Given the description of an element on the screen output the (x, y) to click on. 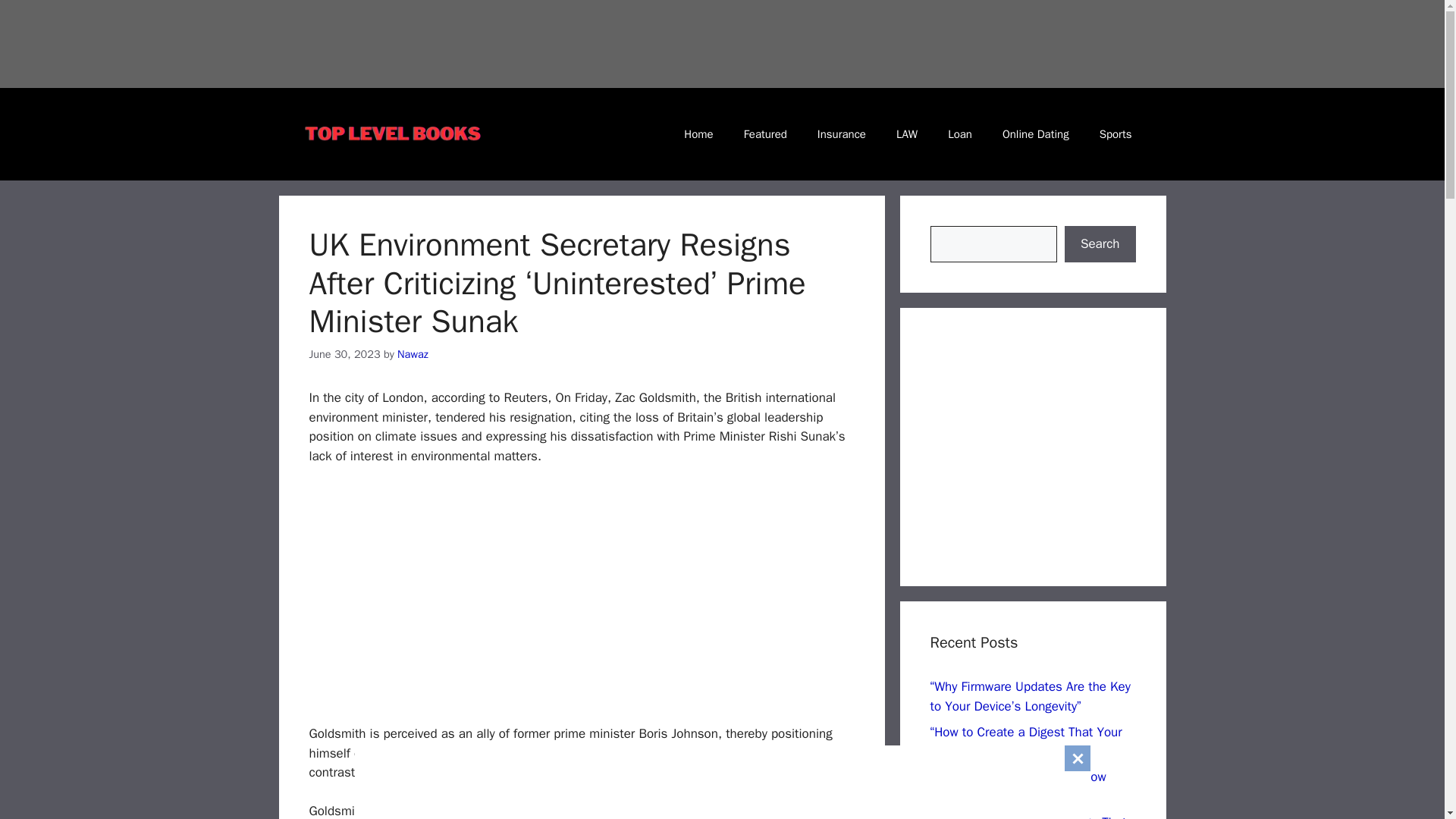
Advertisement (592, 598)
Advertisement (722, 778)
LAW (906, 134)
Sports (1115, 134)
Featured Success Stories: How They Made It Big (1017, 786)
Advertisement (870, 41)
Search (1099, 244)
Online Dating (1035, 134)
Featured (765, 134)
Insurance (841, 134)
Advertisement (1057, 444)
Loan (960, 134)
View all posts by Nawaz (412, 354)
Home (698, 134)
Nawaz (412, 354)
